Given the description of an element on the screen output the (x, y) to click on. 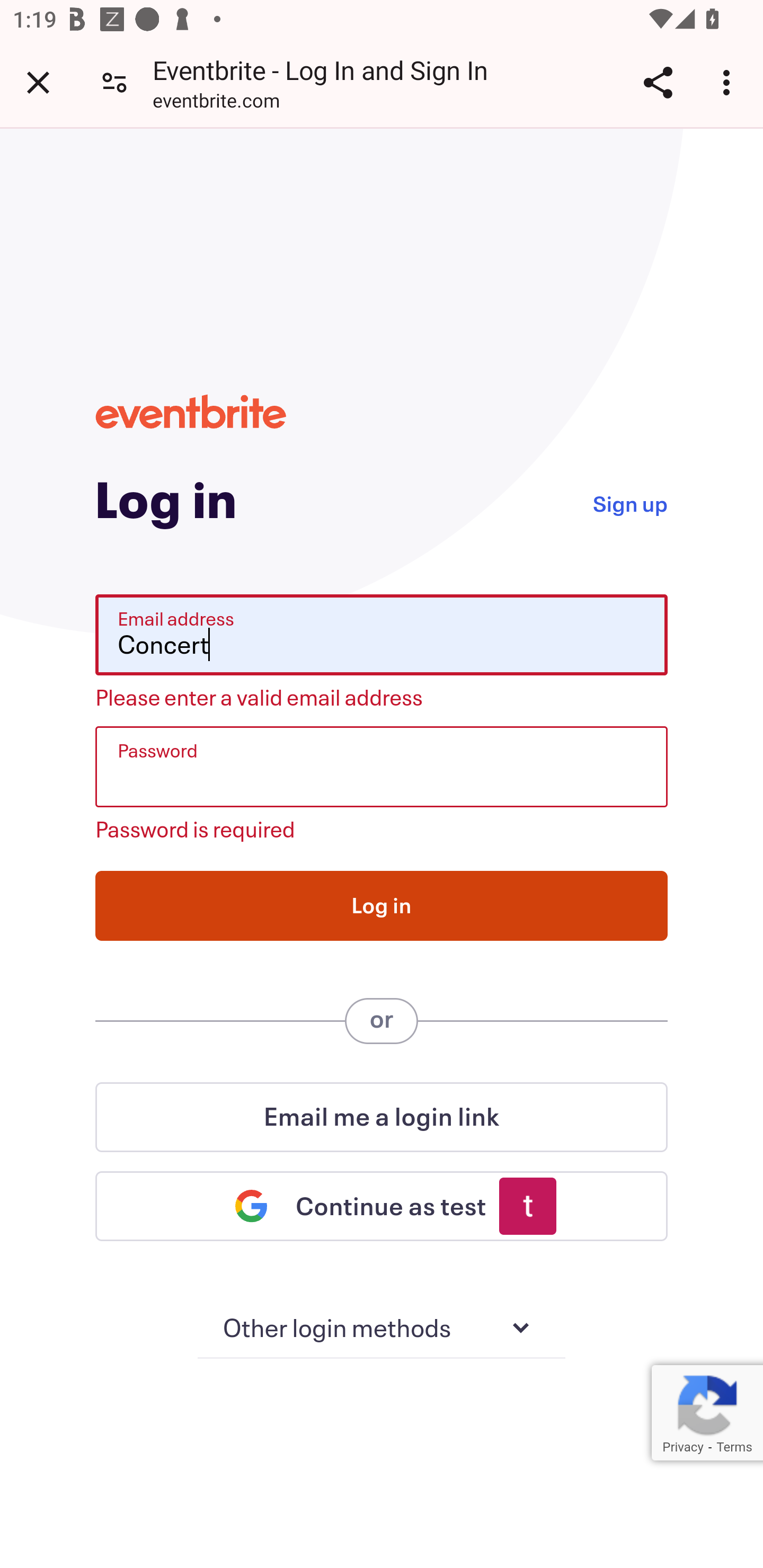
Close tab (38, 82)
Share (657, 82)
Customize and control Google Chrome (729, 82)
Connection is secure (114, 81)
eventbrite.com (216, 103)
www.eventbrite (190, 411)
Sign up (629, 502)
Concert (381, 634)
Log in (381, 905)
Email me a login link (381, 1116)
Other login methods Toggle Content (381, 1328)
Privacy (682, 1447)
Terms (734, 1447)
